Given the description of an element on the screen output the (x, y) to click on. 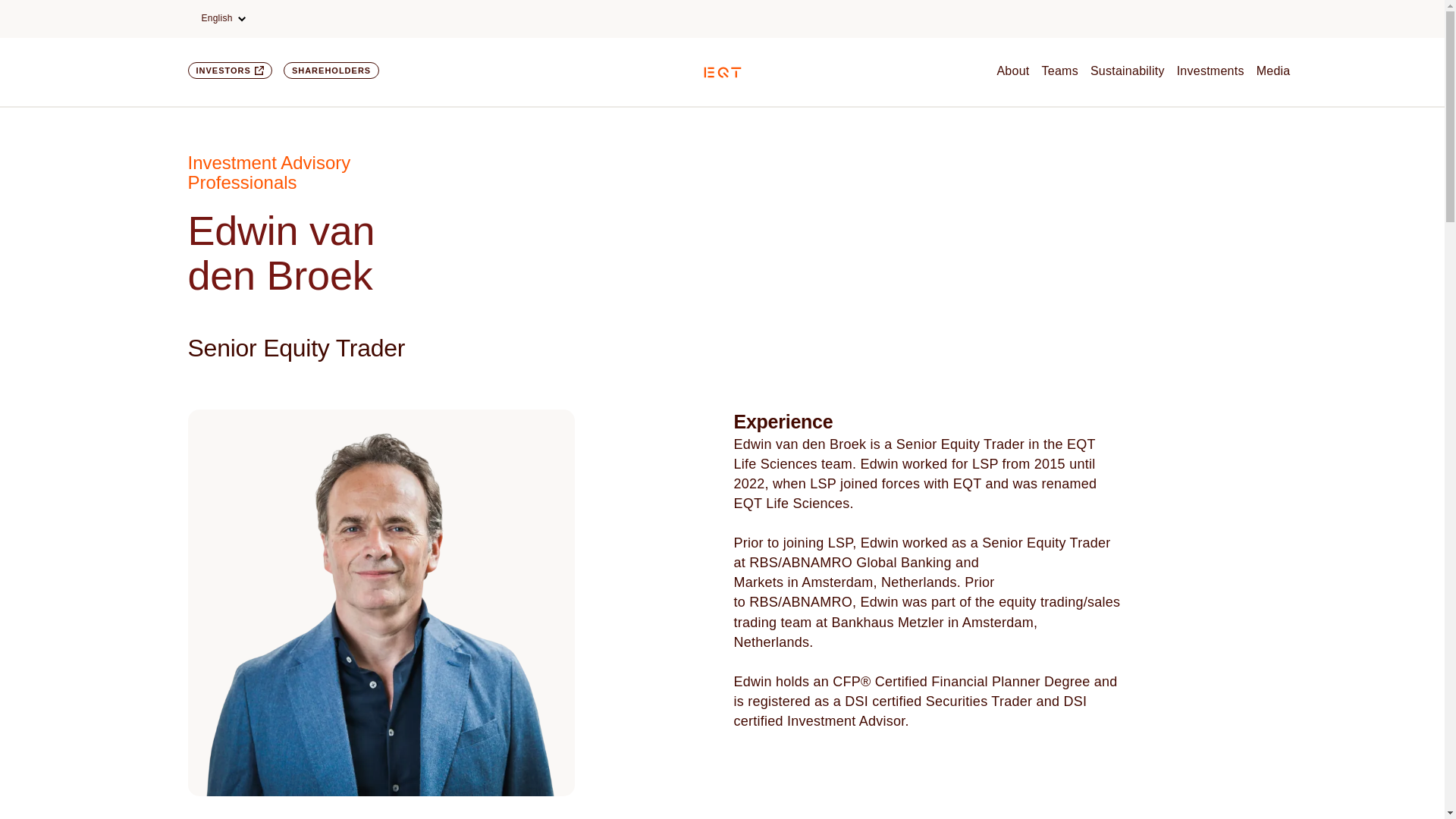
Investments (1210, 71)
Sustainability (1127, 71)
Sustainability (1127, 71)
SHAREHOLDERS (330, 70)
Media (1273, 71)
INVESTORS (229, 70)
English (223, 18)
Investments (1210, 71)
Teams (1060, 71)
About (1012, 71)
About (1012, 71)
Teams (1060, 71)
Media (1273, 71)
